Given the description of an element on the screen output the (x, y) to click on. 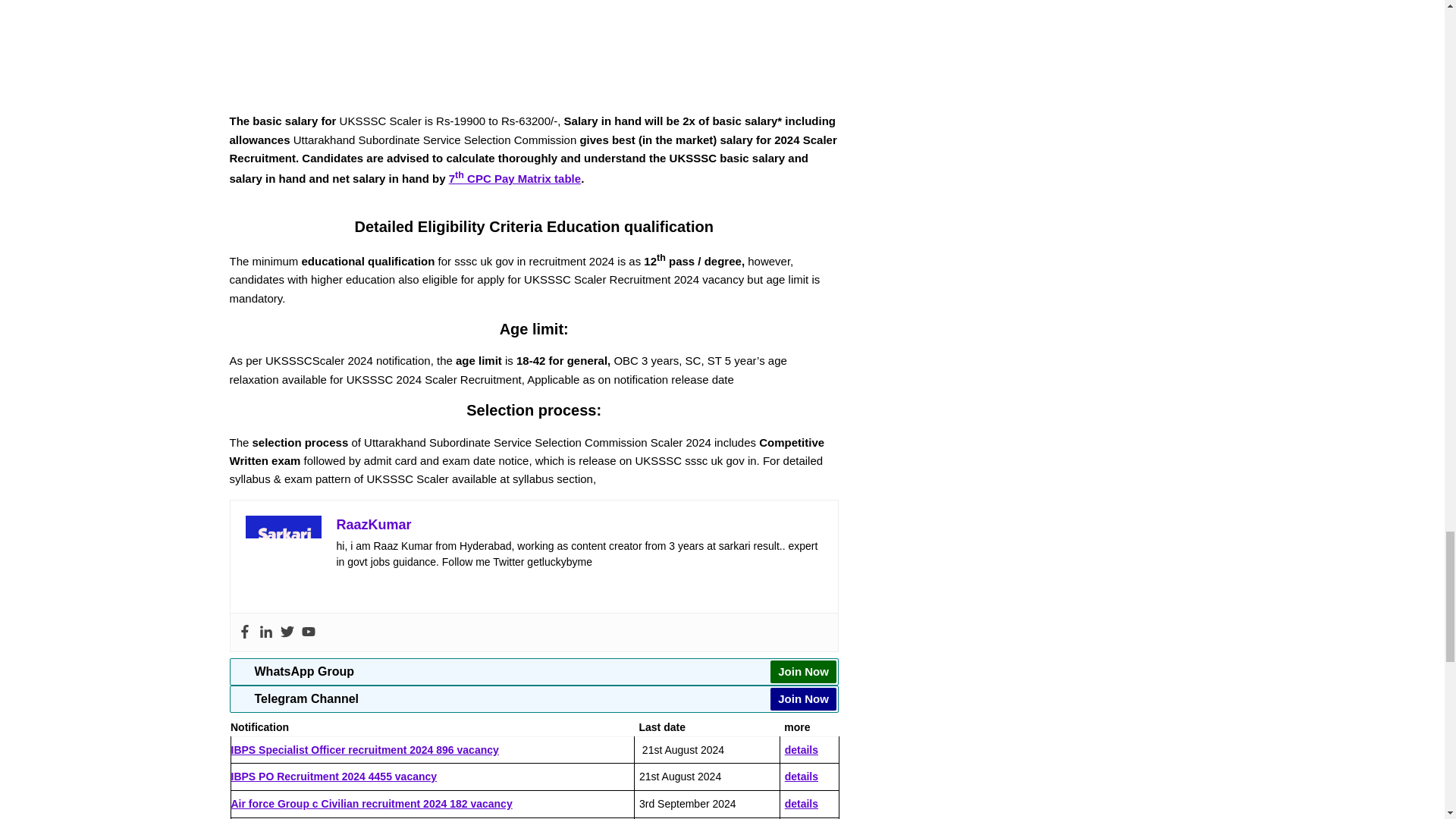
Youtube (308, 631)
IBPS PO Recruitment 2024 4455 vacancy (333, 776)
Facebook (244, 631)
details (801, 776)
Air force Group c Civilian recruitment 2024 182 vacancy (371, 803)
details (801, 803)
Twitter (287, 631)
7th CPC Pay Matrix table (514, 178)
Advertisement (534, 56)
Join Now (802, 698)
Linkedin (266, 631)
Join Now (802, 671)
details (801, 749)
IBPS Specialist Officer recruitment 2024 896 vacancy (363, 749)
RaazKumar (374, 524)
